Given the description of an element on the screen output the (x, y) to click on. 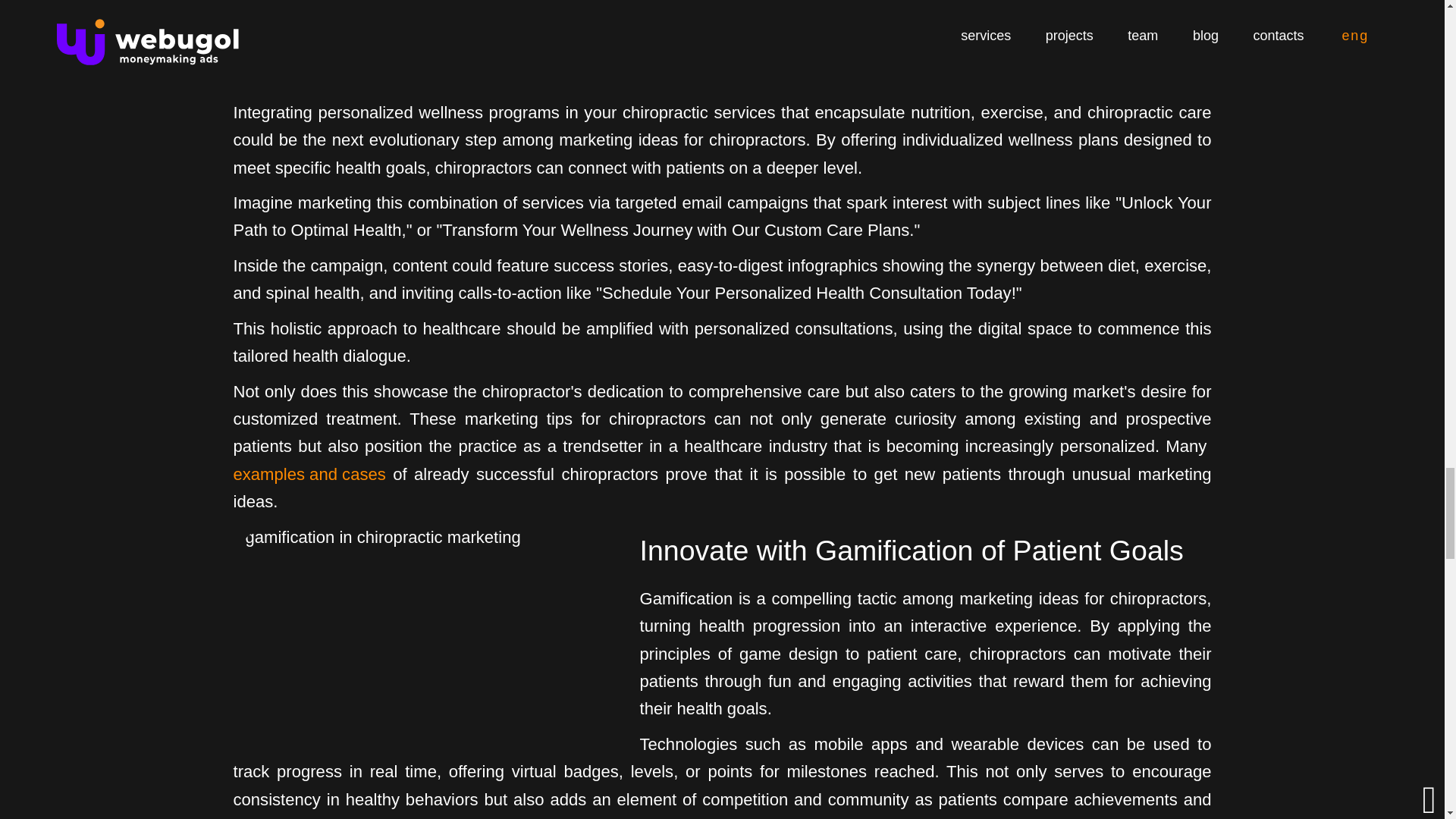
sphere of social media (441, 616)
marketing strategy (663, 406)
